Given the description of an element on the screen output the (x, y) to click on. 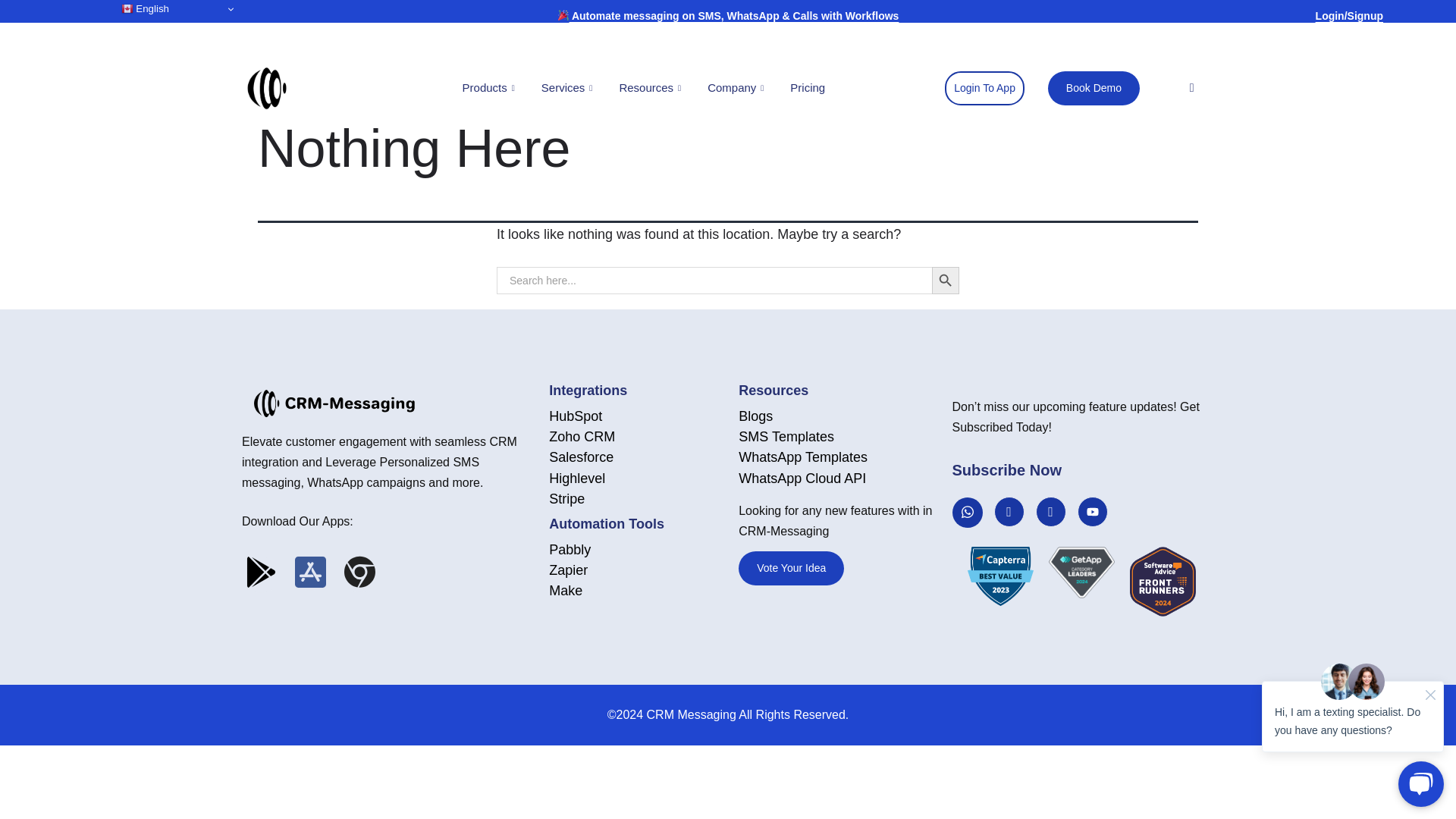
Products (490, 87)
Services (568, 87)
